Given the description of an element on the screen output the (x, y) to click on. 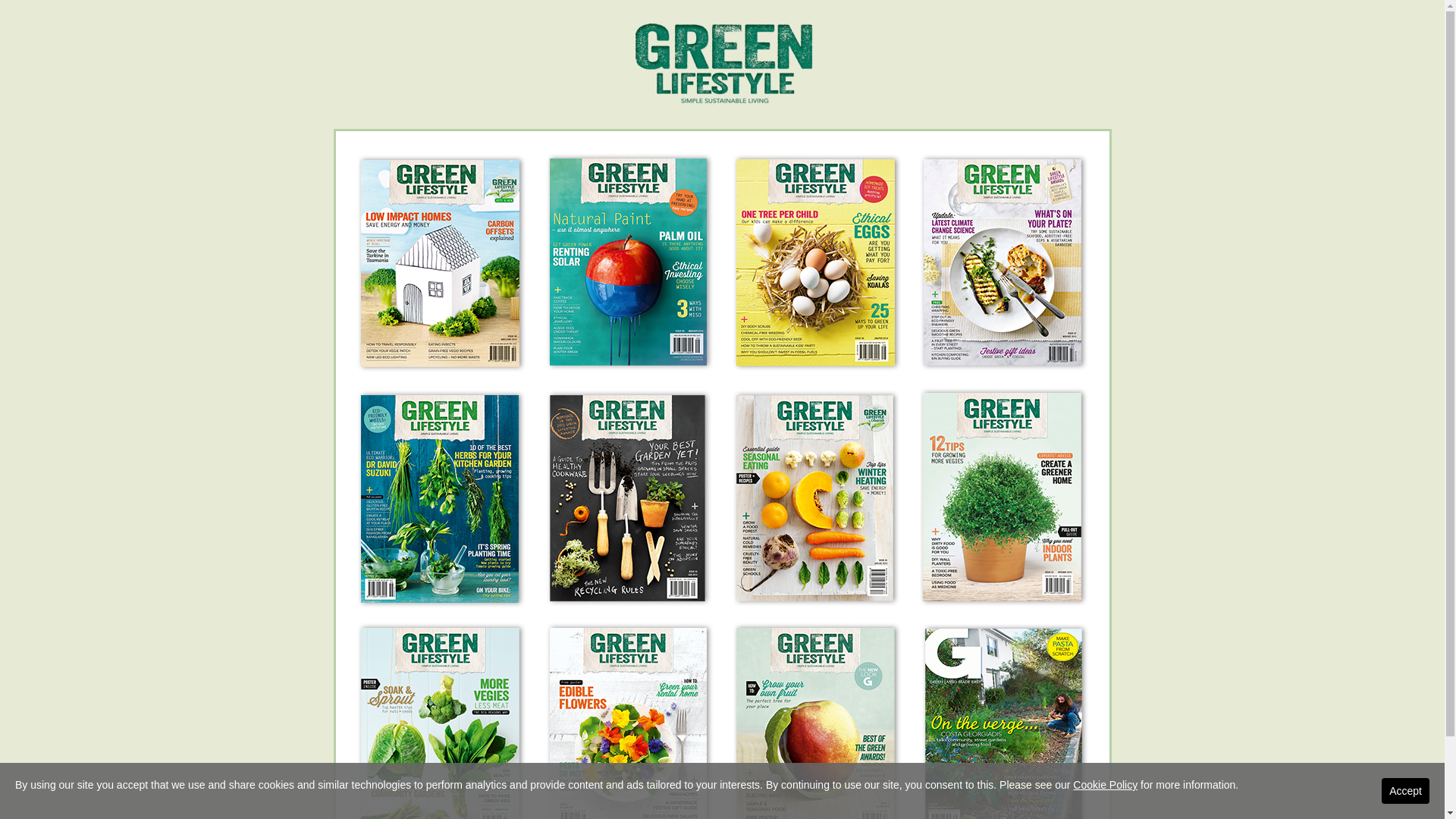
Accept Element type: text (1405, 790)
Cookie Policy Element type: text (1105, 784)
